Given the description of an element on the screen output the (x, y) to click on. 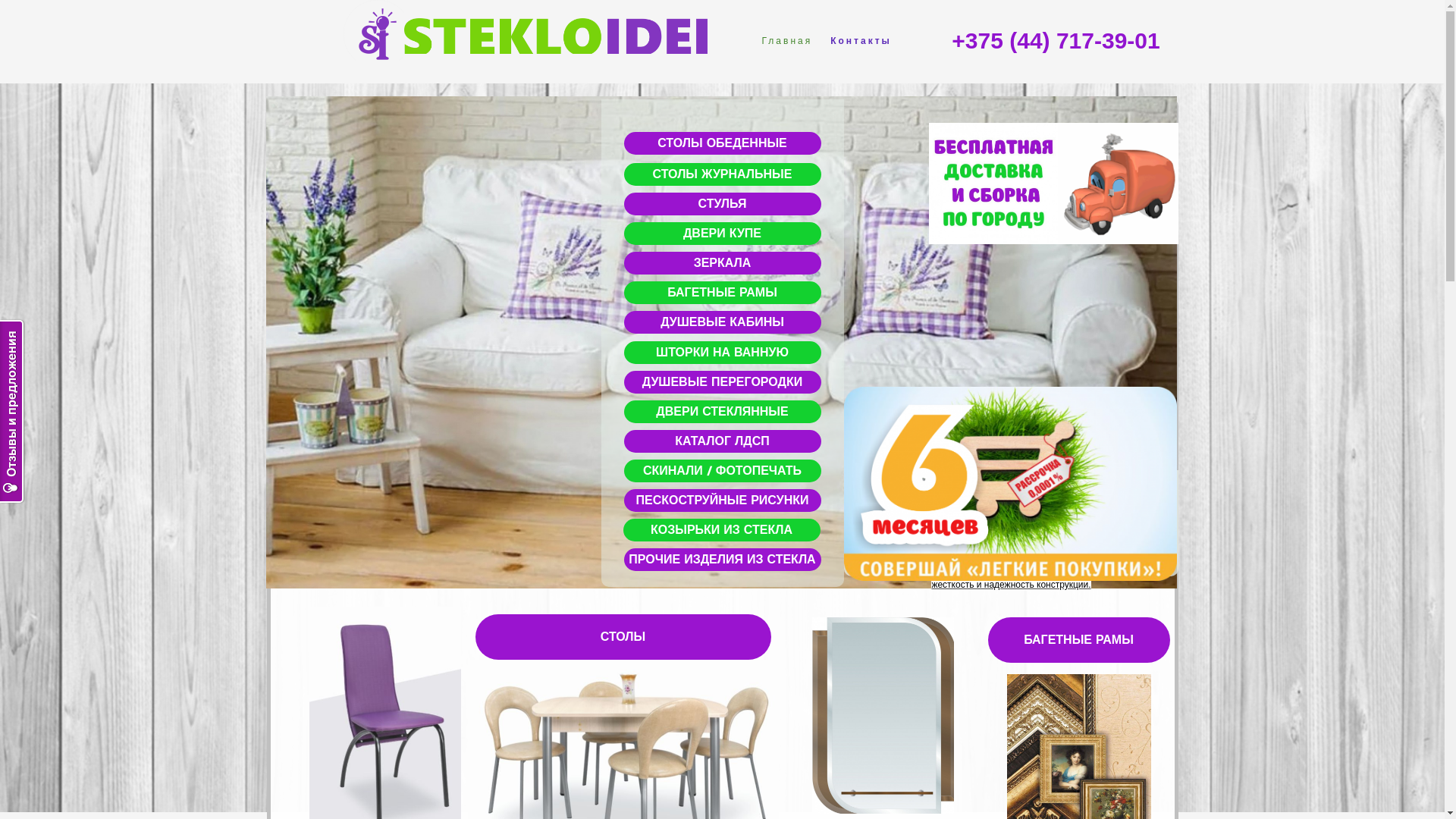
+375 (44) 717-39-01 Element type: text (1055, 40)
